Given the description of an element on the screen output the (x, y) to click on. 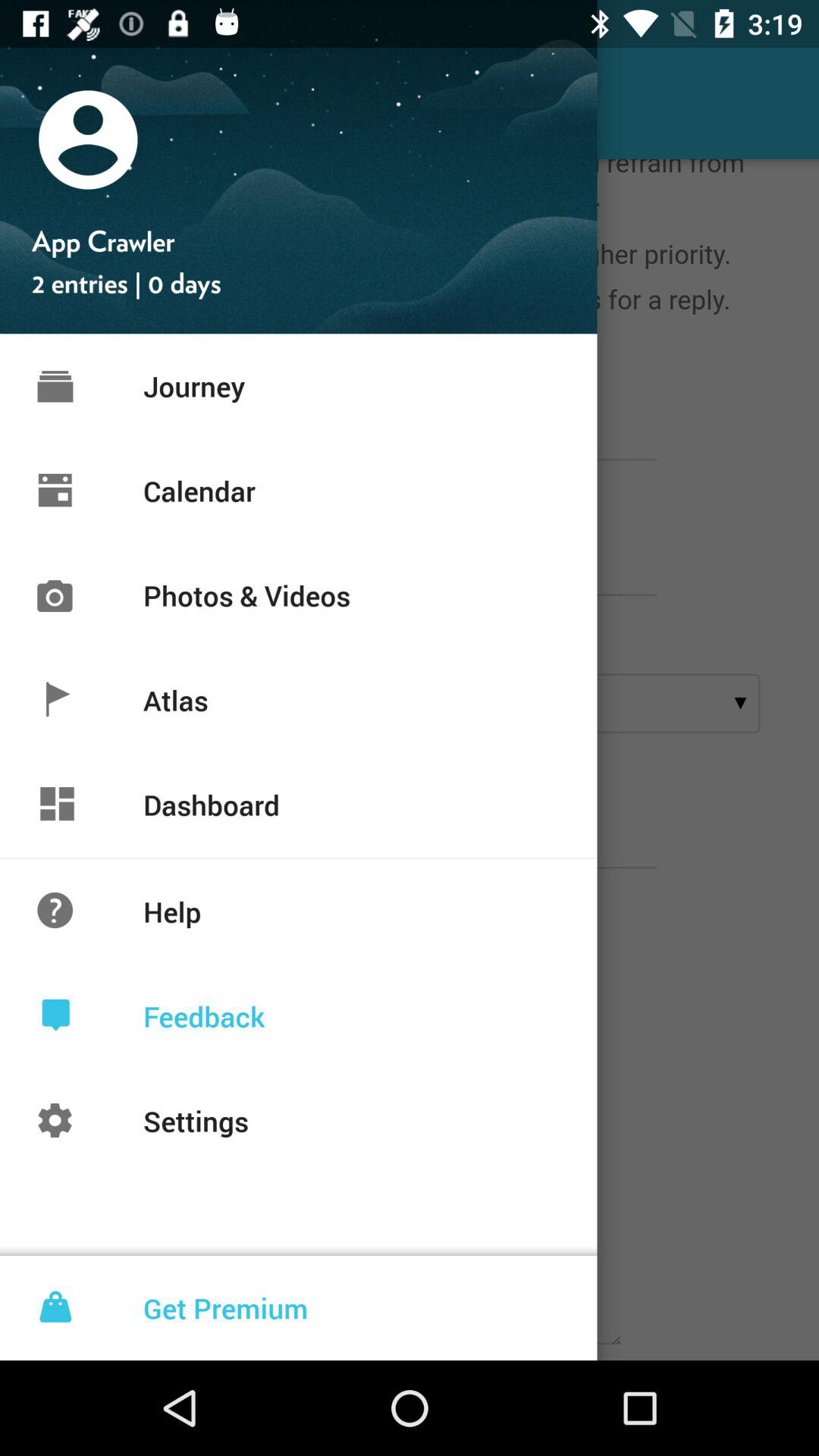
click on the profile image icon above the text app crawler (87, 138)
